Given the description of an element on the screen output the (x, y) to click on. 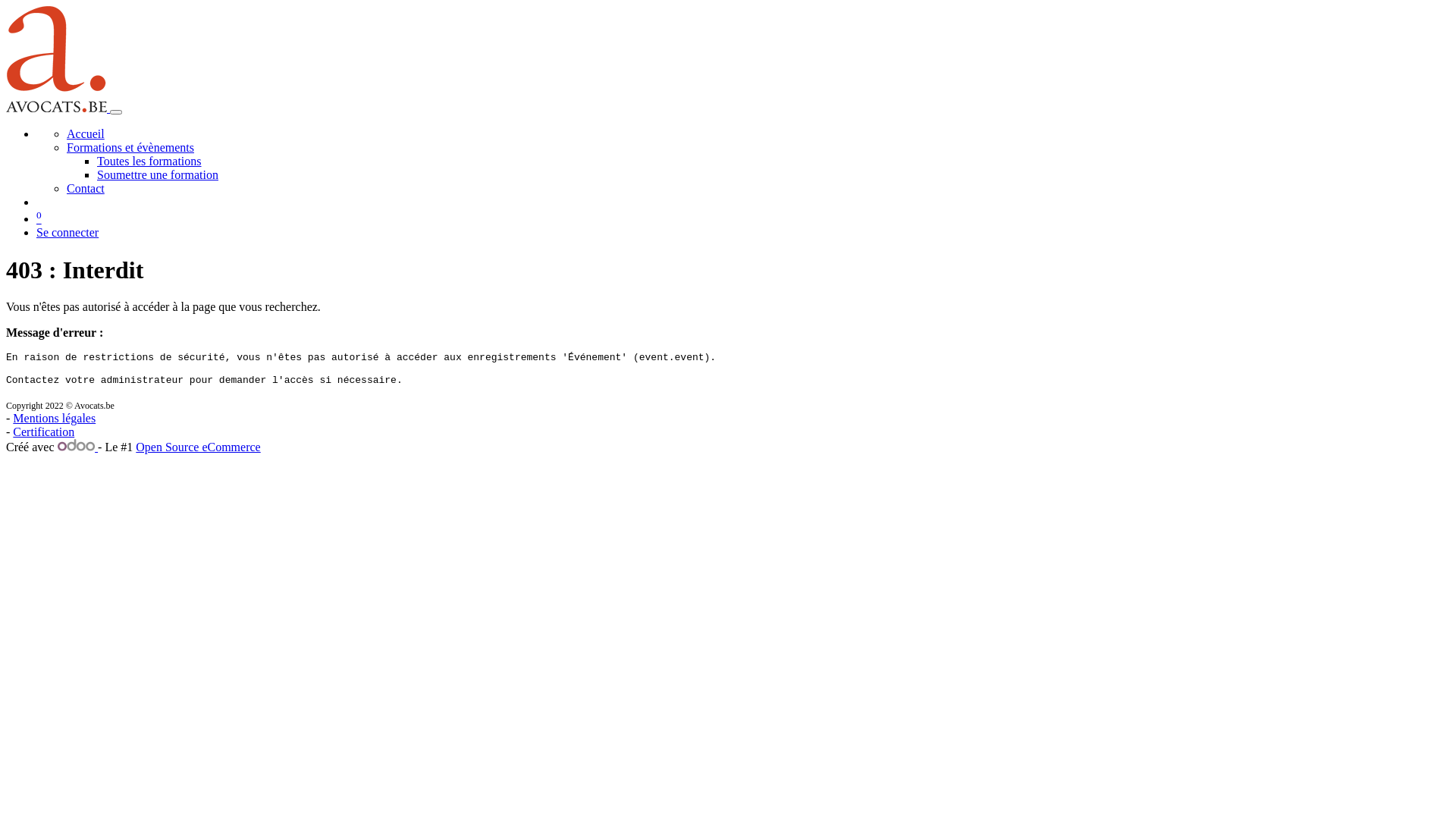
LgoBox Element type: hover (56, 107)
Contact Element type: text (85, 188)
Accueil Element type: text (85, 133)
Certification Element type: text (43, 431)
0 Element type: text (38, 218)
Toutes les formations Element type: text (149, 160)
Se connecter Element type: text (67, 231)
Open Source eCommerce Element type: text (197, 446)
Soumettre une formation Element type: text (157, 174)
